Given the description of an element on the screen output the (x, y) to click on. 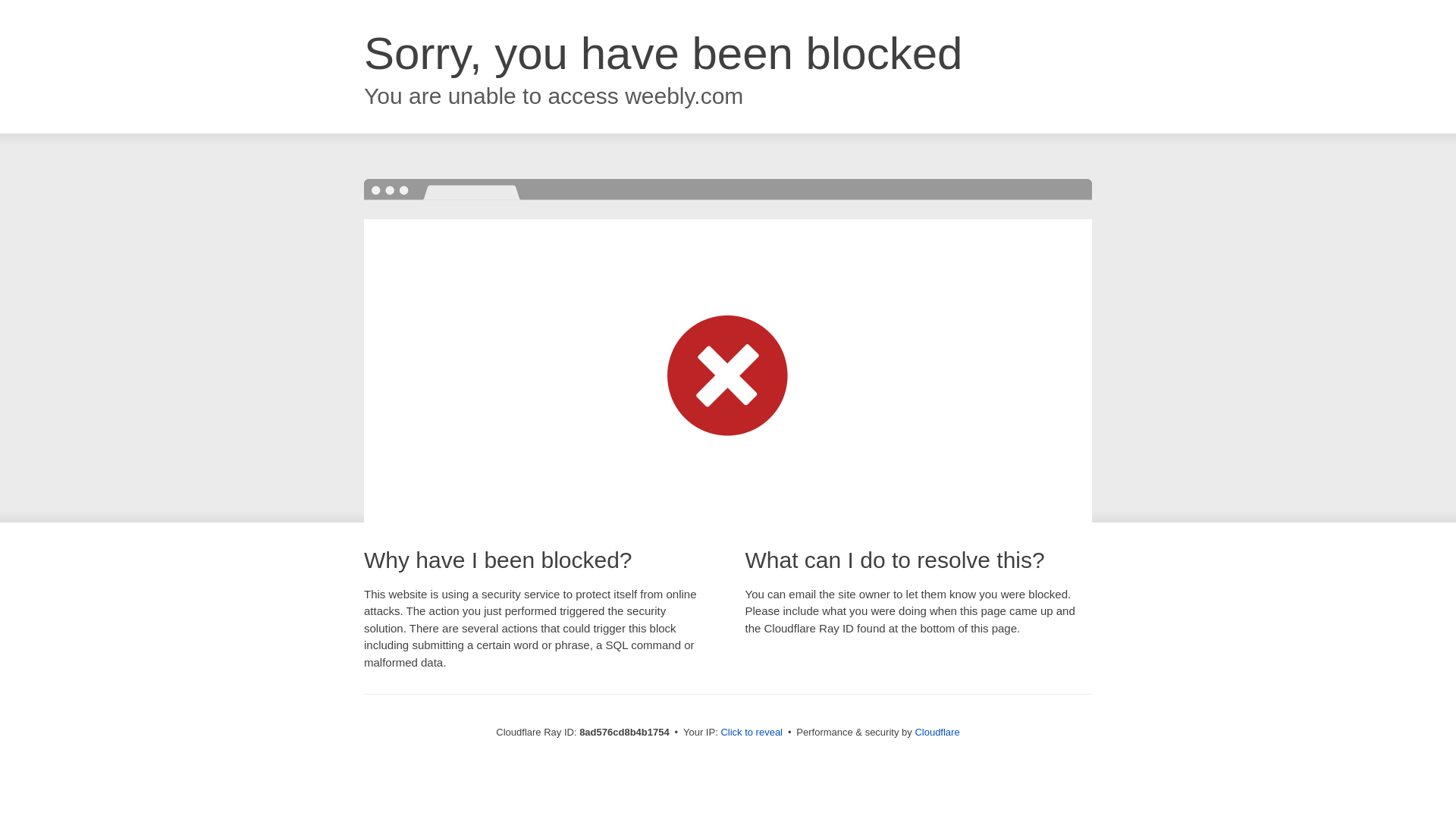
Click to reveal (751, 732)
Cloudflare (936, 731)
